Given the description of an element on the screen output the (x, y) to click on. 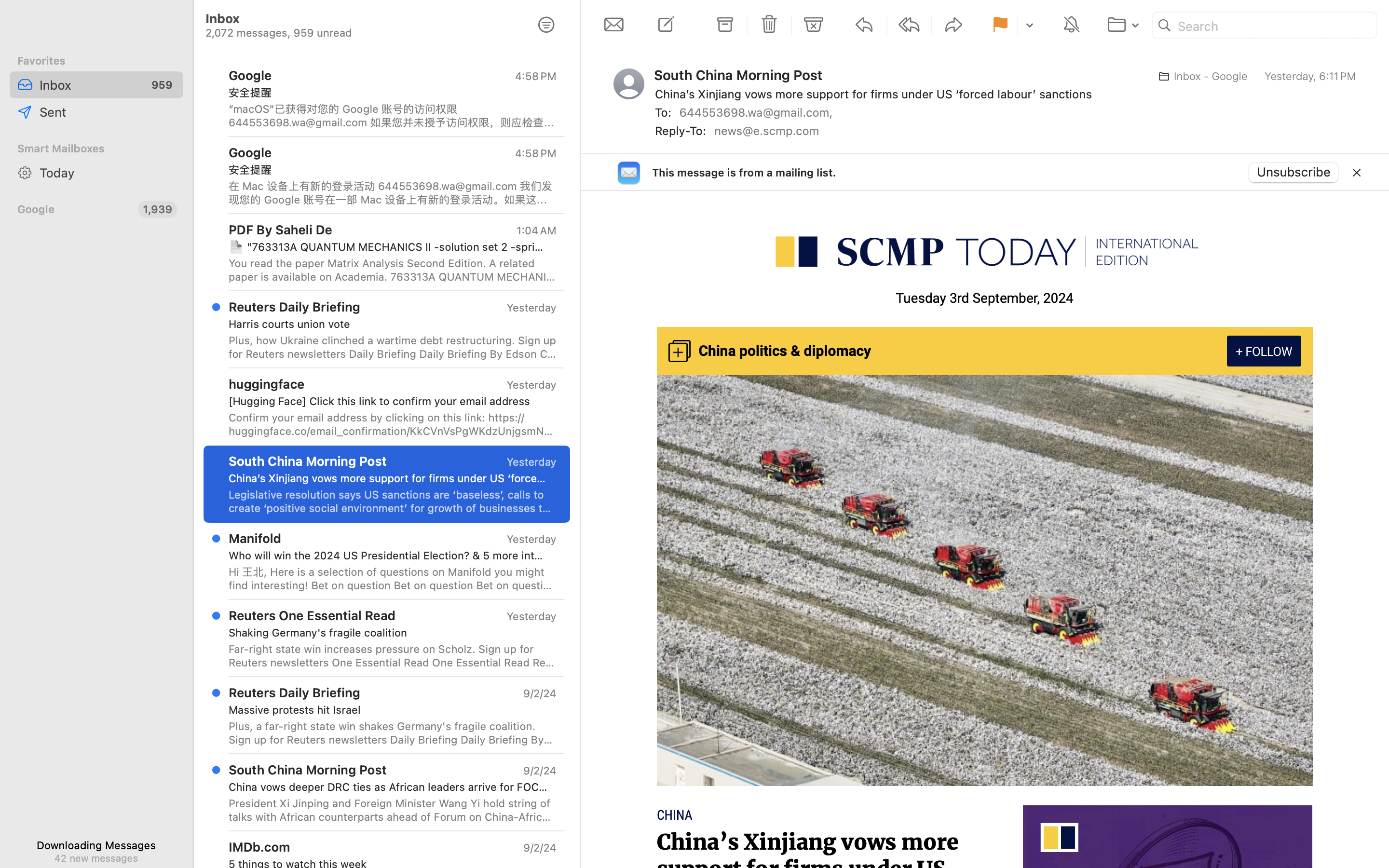
Favorites Element type: AXStaticText (96, 60)
Hi 王北, Here is a selection of questions on Manifold you might find interesting! Bet on question Bet on question Bet on question Bet on question Bet on question Bet on question 🔎 Explore Manifold This e-mail has been sent to 王北, click here to unsubscribe from this type of notification. Element type: AXStaticText (392, 578)
1:04 AM Element type: AXStaticText (535, 230)
Inbox Element type: AXStaticText (88, 84)
📄 "763313A QUANTUM MECHANICS II -solution set 2 -spring 2014" by Saheli De Element type: AXStaticText (388, 246)
